Given the description of an element on the screen output the (x, y) to click on. 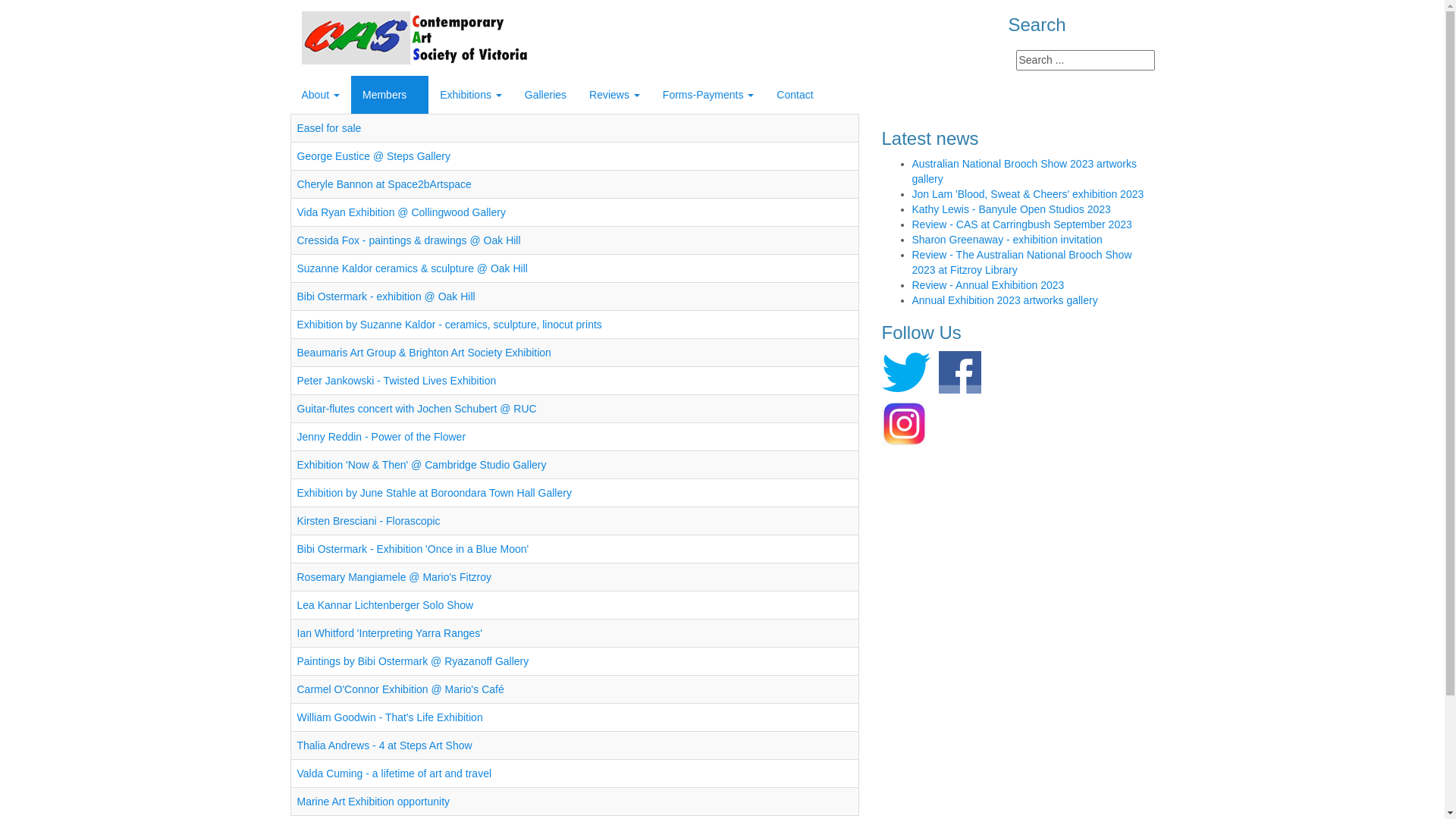
Vida Ryan Exhibition @ Collingwood Gallery Element type: text (401, 212)
Australian National Brooch Show 2023 artworks gallery Element type: text (1023, 171)
Members Element type: text (389, 94)
Follow us on Facebook Element type: hover (959, 372)
Guitar-flutes concert with Jochen Schubert @ RUC Element type: text (416, 408)
Exhibition by June Stahle at Boroondara Town Hall Gallery Element type: text (434, 492)
Exhibition 'Now & Then' @ Cambridge Studio Gallery Element type: text (421, 464)
Follow us on Facebook Element type: hover (955, 370)
George Eustice @ Steps Gallery Element type: text (374, 156)
Peter Jankowski - Twisted Lives Exhibition Element type: text (396, 380)
Annual Exhibition 2023 artworks gallery Element type: text (1004, 300)
Kirsten Bresciani - Florascopic Element type: text (368, 520)
Paintings by Bibi Ostermark @ Ryazanoff Gallery Element type: text (413, 661)
Valda Cuming - a lifetime of art and travel Element type: text (394, 773)
William Goodwin - That's Life Exhibition Element type: text (390, 717)
Suzanne Kaldor ceramics & sculpture @ Oak Hill Element type: text (412, 268)
Reviews Element type: text (614, 94)
Review - CAS at Carringbush September 2023 Element type: text (1021, 224)
Bibi Ostermark - Exhibition 'Once in a Blue Moon' Element type: text (413, 548)
Cressida Fox - paintings & drawings @ Oak Hill Element type: text (408, 240)
Follow us on Instagram Element type: hover (903, 422)
Thalia Andrews - 4 at Steps Art Show Element type: text (384, 745)
Easel for sale Element type: text (329, 128)
Marine Art Exhibition opportunity Element type: text (373, 801)
Follow us on Twitter Element type: hover (905, 370)
Ian Whitford 'Interpreting Yarra Ranges' Element type: text (390, 633)
About Element type: text (319, 94)
Beaumaris Art Group & Brighton Art Society Exhibition Element type: text (424, 352)
Galleries Element type: text (545, 94)
Contact Element type: text (794, 94)
Lea Kannar Lichtenberger Solo Show Element type: text (385, 605)
Kathy Lewis - Banyule Open Studios 2023 Element type: text (1010, 209)
Sharon Greenaway - exhibition invitation Element type: text (1006, 239)
Exhibitions Element type: text (470, 94)
Bibi Ostermark - exhibition @ Oak Hill Element type: text (386, 296)
Cheryle Bannon at Space2bArtspace Element type: text (384, 184)
Jon Lam 'Blood, Sweat & Cheers' exhibition 2023 Element type: text (1027, 194)
Forms-Payments Element type: text (708, 94)
Jenny Reddin - Power of the Flower Element type: text (381, 436)
Rosemary Mangiamele @ Mario's Fitzroy Element type: text (394, 577)
   Element type: text (955, 370)
Review - Annual Exhibition 2023 Element type: text (987, 285)
